Given the description of an element on the screen output the (x, y) to click on. 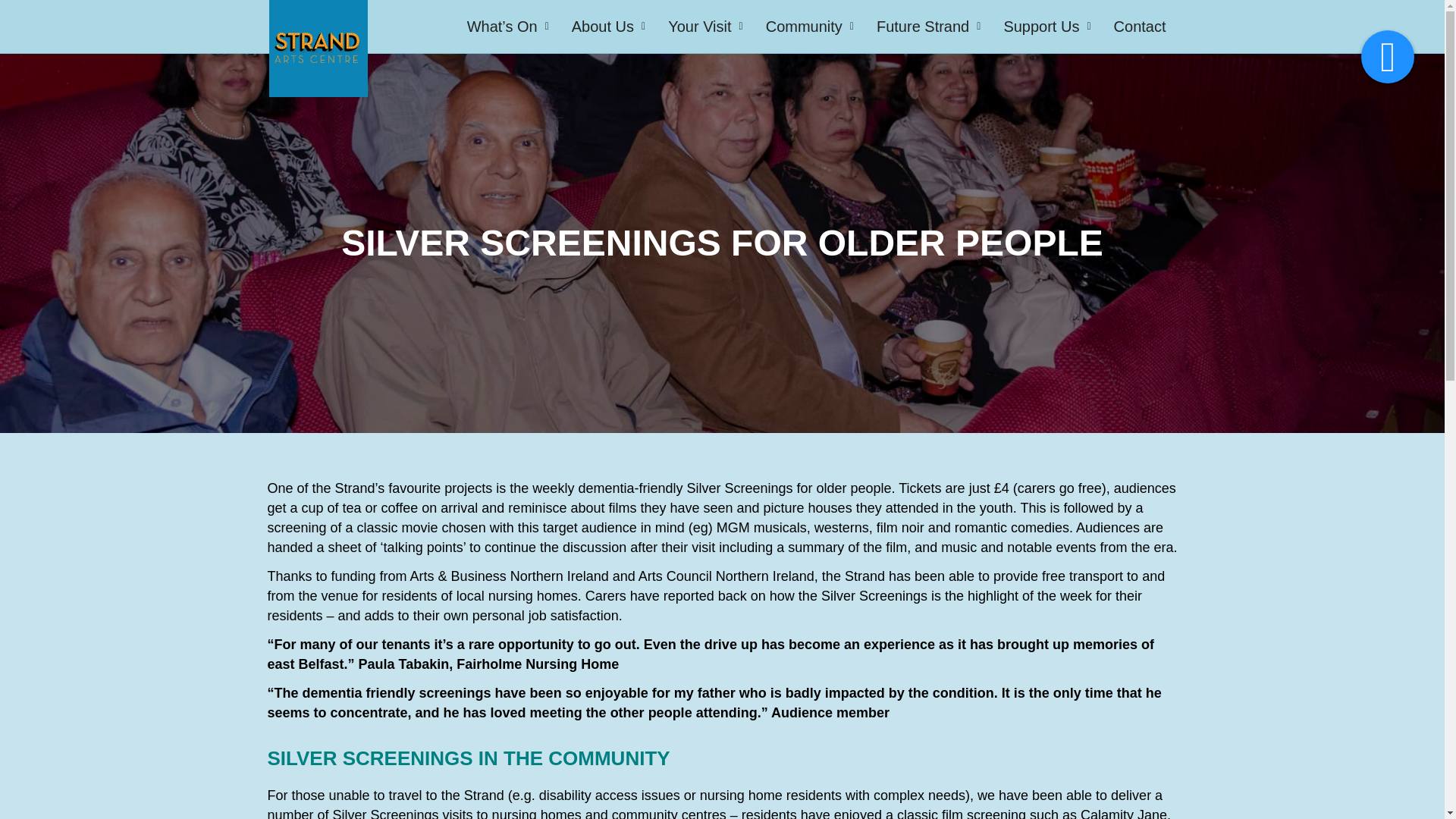
Your Visit (705, 26)
About Us (608, 26)
